Given the description of an element on the screen output the (x, y) to click on. 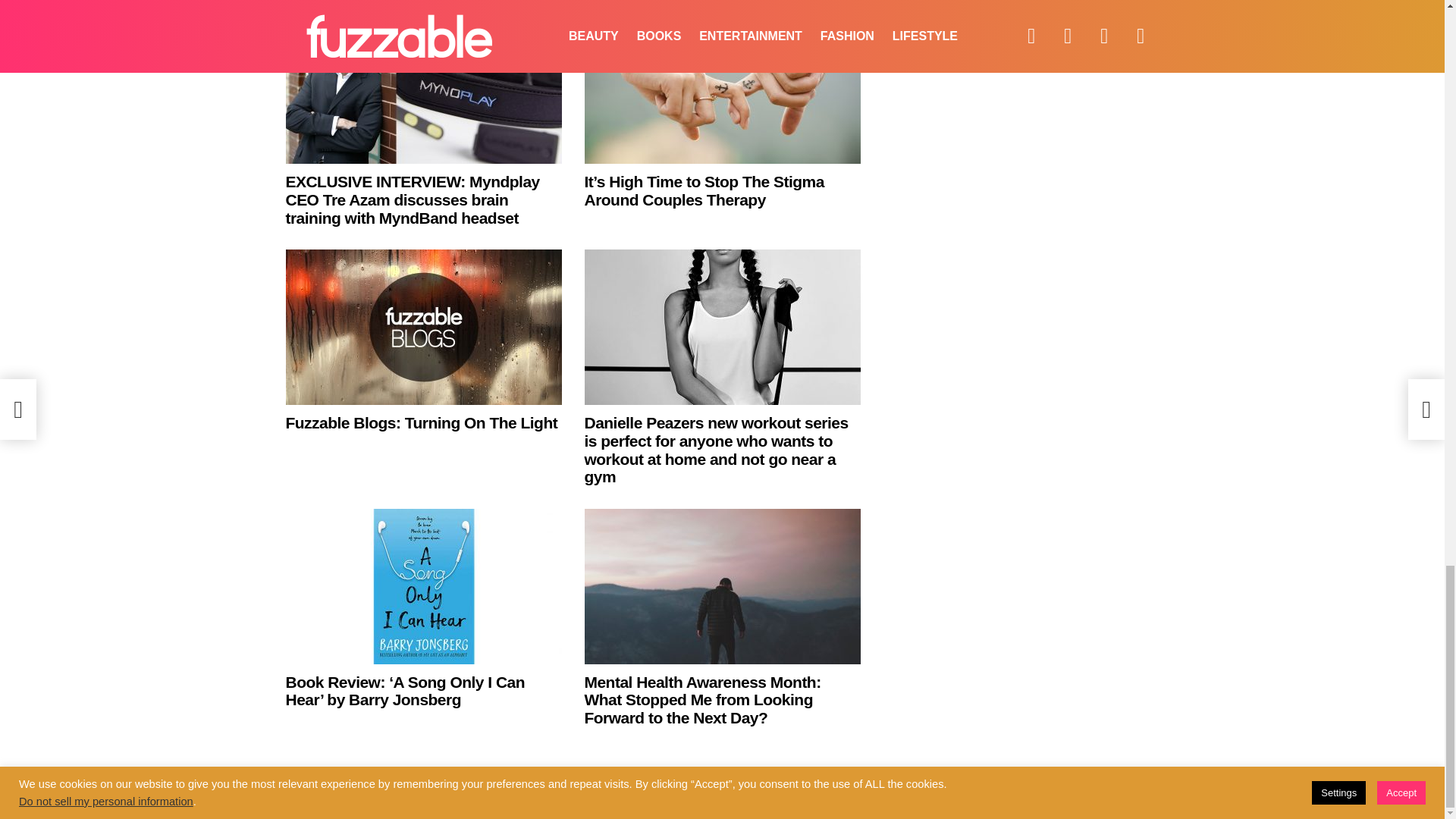
Fuzzable Blogs: Turning On The Light (422, 326)
Fuzzable Blogs: Turning On The Light (421, 422)
